Given the description of an element on the screen output the (x, y) to click on. 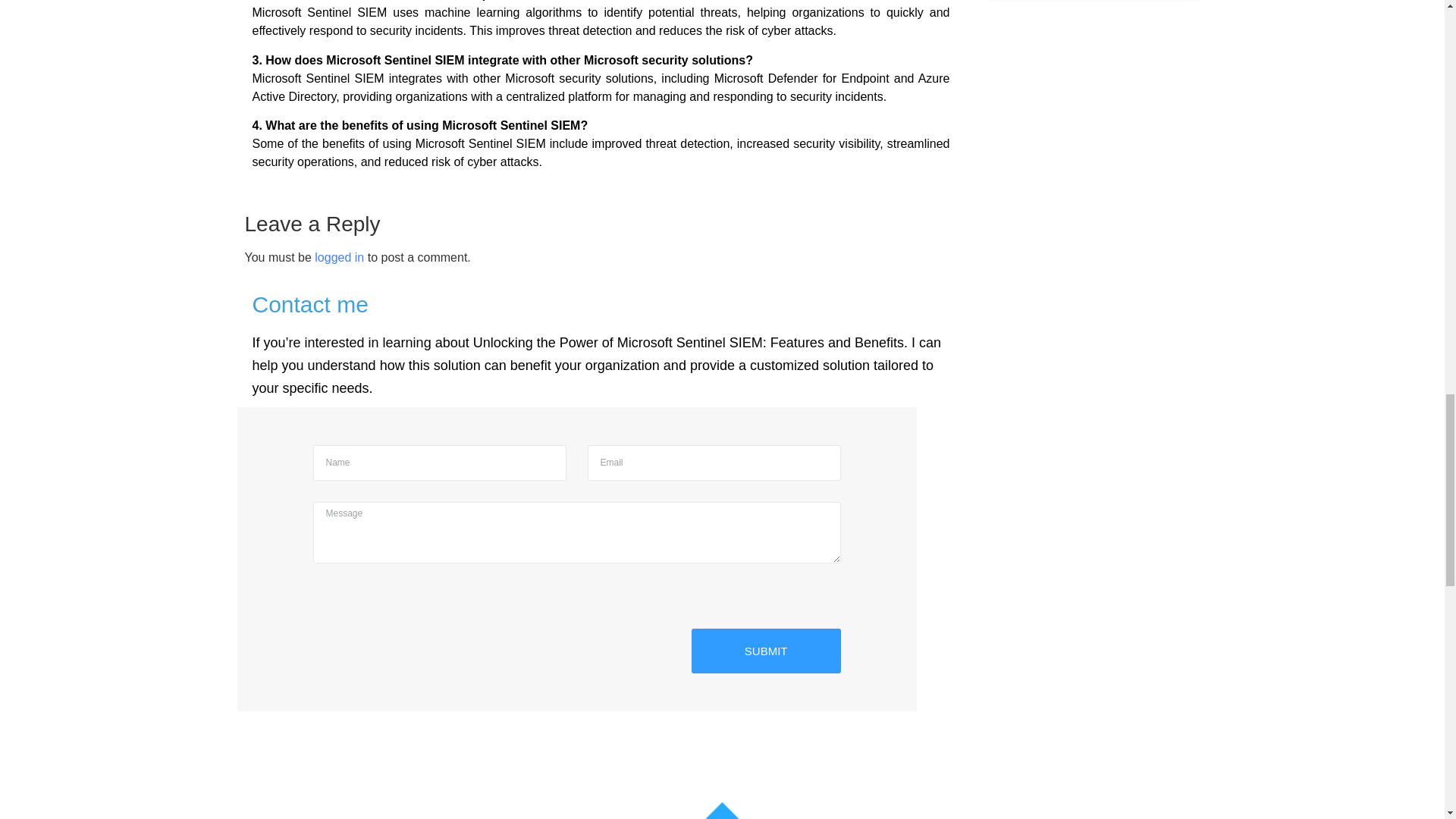
logged in (339, 256)
